Given the description of an element on the screen output the (x, y) to click on. 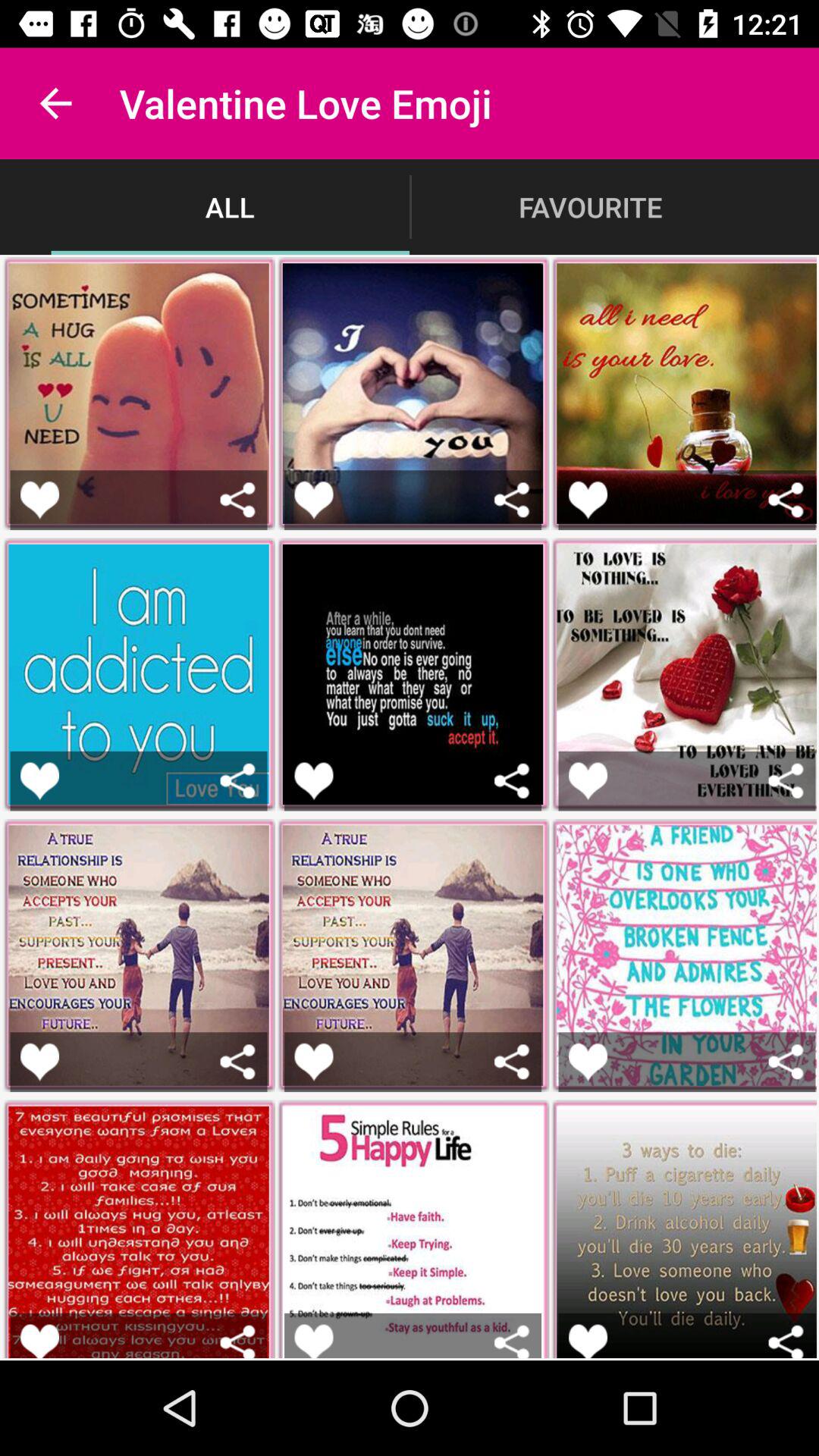
share image (785, 499)
